Given the description of an element on the screen output the (x, y) to click on. 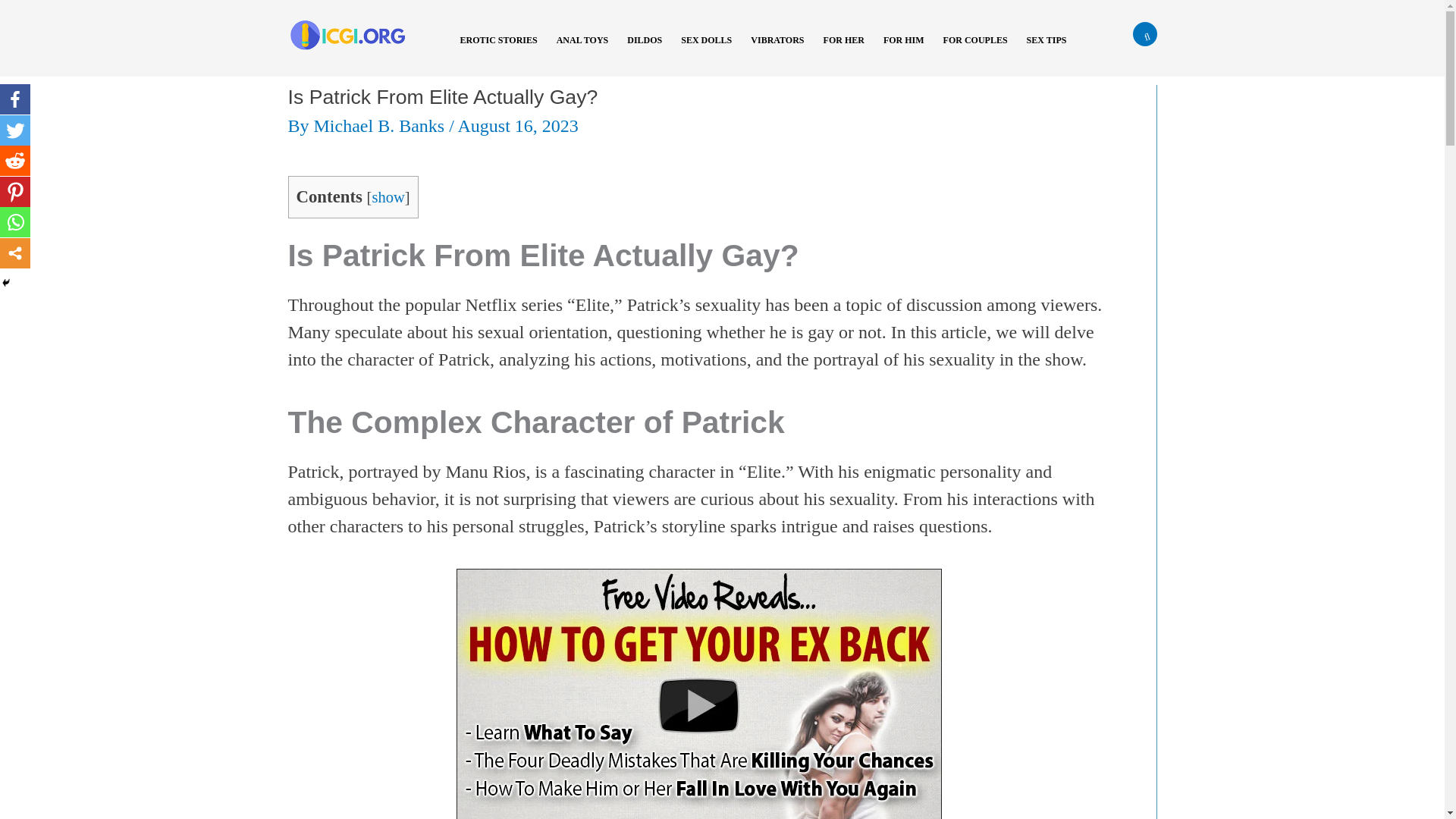
VIBRATORS (783, 50)
Reddit (15, 160)
DILDOS (649, 50)
FOR HER (850, 50)
View all posts by Michael B. Banks (381, 125)
show (387, 197)
SEX TIPS (1052, 50)
SEX DOLLS (711, 50)
EROTIC STORIES (504, 50)
Pinterest (15, 191)
